Given the description of an element on the screen output the (x, y) to click on. 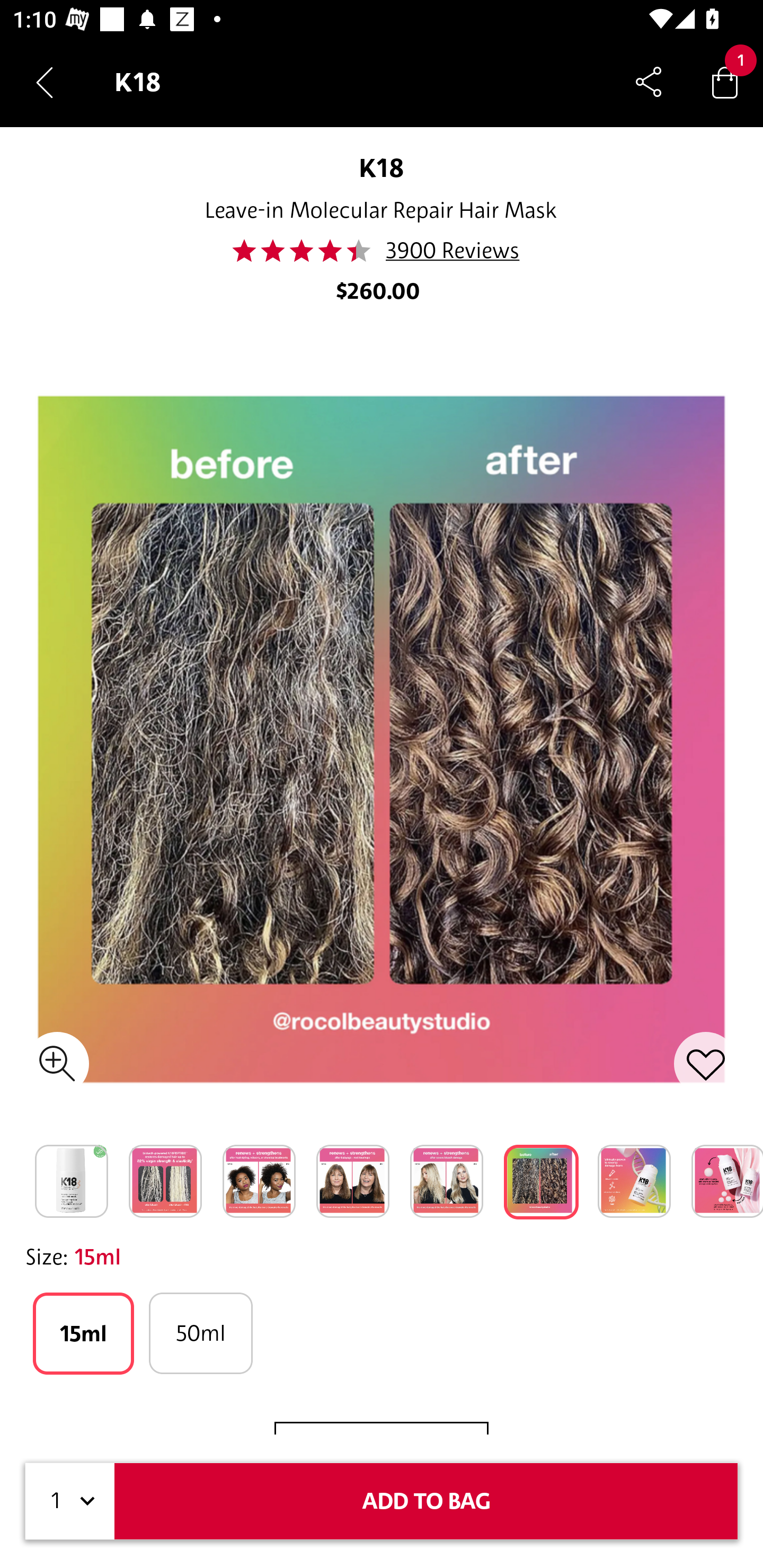
Navigate up (44, 82)
Share (648, 81)
Bag (724, 81)
K18 (381, 167)
44.0 3900 Reviews (380, 250)
15ml (83, 1333)
50ml (200, 1332)
1 (69, 1500)
ADD TO BAG (425, 1500)
